Given the description of an element on the screen output the (x, y) to click on. 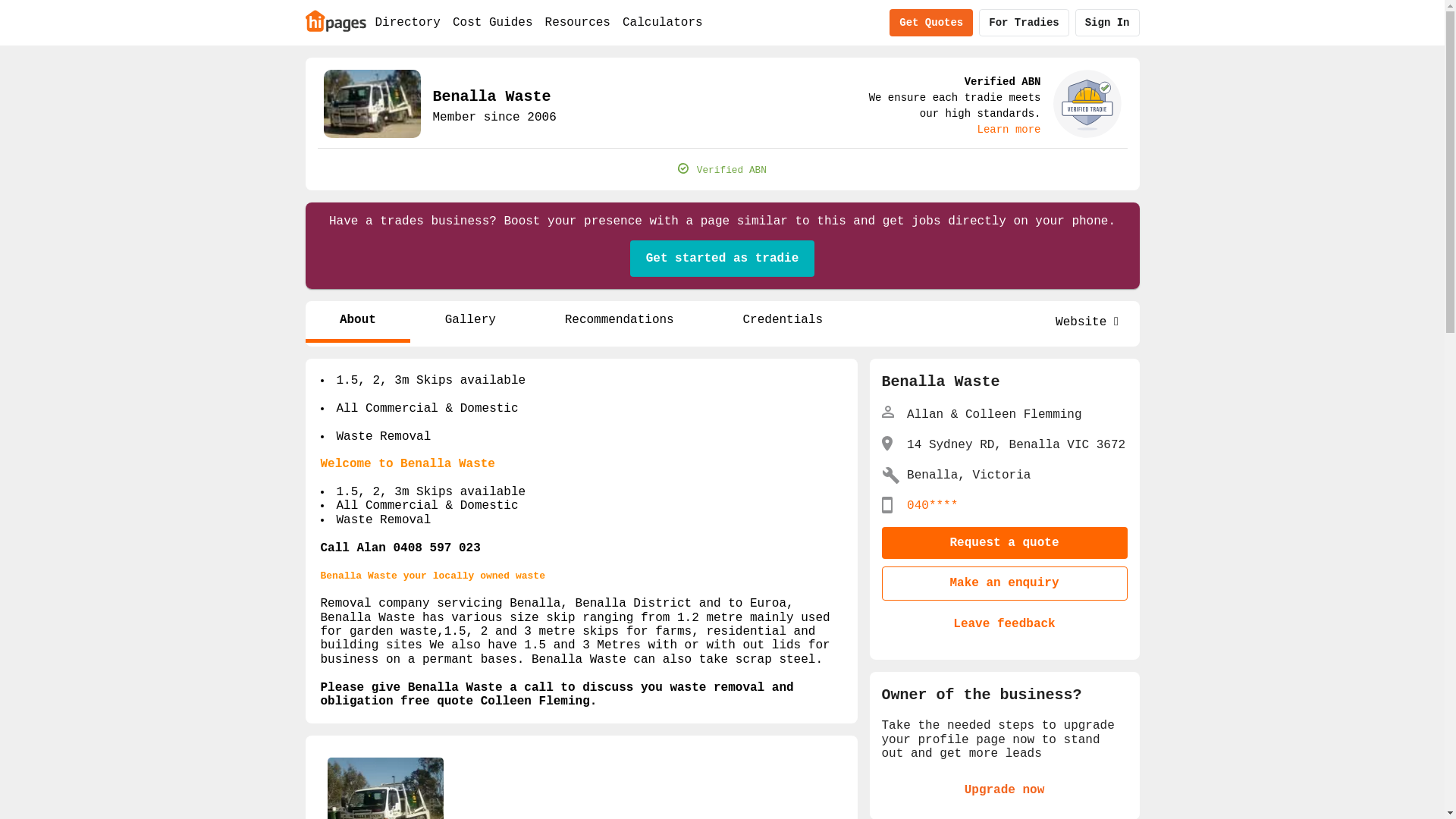
Upgrade now Element type: text (1003, 789)
Recommendations Element type: text (619, 321)
Get started as tradie Element type: text (722, 258)
Learn more Element type: text (1008, 130)
Credentials Element type: text (782, 321)
Directory Element type: text (406, 22)
Get Quotes Element type: text (930, 22)
Cost Guides Element type: text (492, 22)
About Element type: text (357, 321)
Calculators Element type: text (662, 22)
Upgrade now Element type: text (1003, 790)
Request a quote Element type: text (1003, 542)
Leave feedback Element type: text (1003, 624)
040**** Element type: text (931, 505)
For Tradies Element type: text (1023, 22)
Resources Element type: text (577, 22)
Sign In Element type: text (1107, 22)
Home Element type: hover (334, 20)
Get started as tradie Element type: text (722, 258)
Make an enquiry Element type: text (1003, 582)
For Tradies Element type: text (1023, 22)
Gallery Element type: text (470, 321)
